Given the description of an element on the screen output the (x, y) to click on. 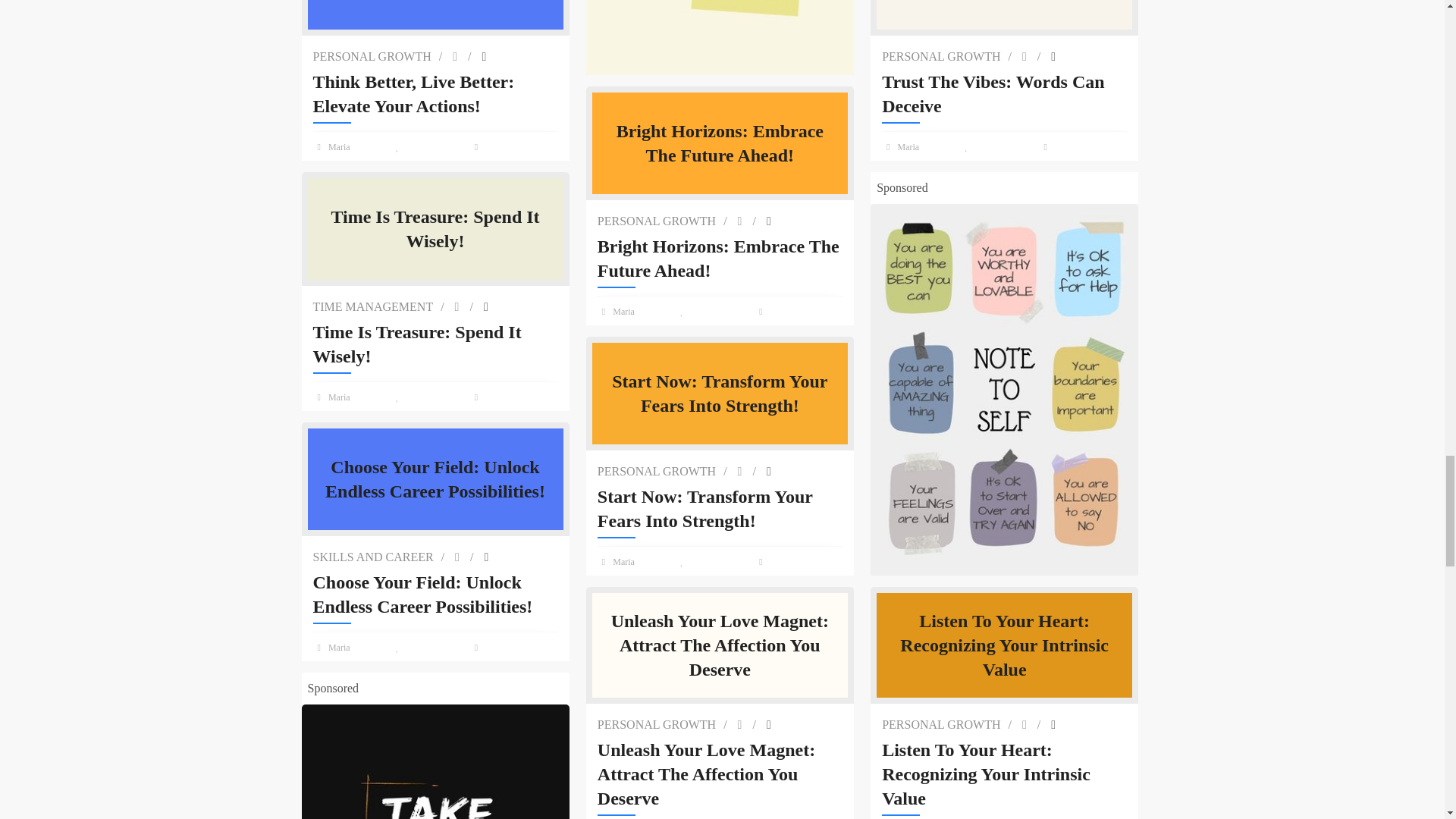
Time Is Treasure: Spend It Wisely! (435, 344)
Unleash Your Love Magnet: Attract The Affection You Deserve (719, 773)
Start Now: Transform Your Fears Into Strength! (719, 508)
Choose Your Field: Unlock Endless Career Possibilities! (435, 594)
Listen To Your Heart: Recognizing Your Intrinsic Value (1004, 773)
Think Better, Live Better: Elevate Your Actions! (435, 93)
Trust The Vibes: Words Can Deceive (1004, 93)
Bright Horizons: Embrace The Future Ahead! (719, 258)
